Given the description of an element on the screen output the (x, y) to click on. 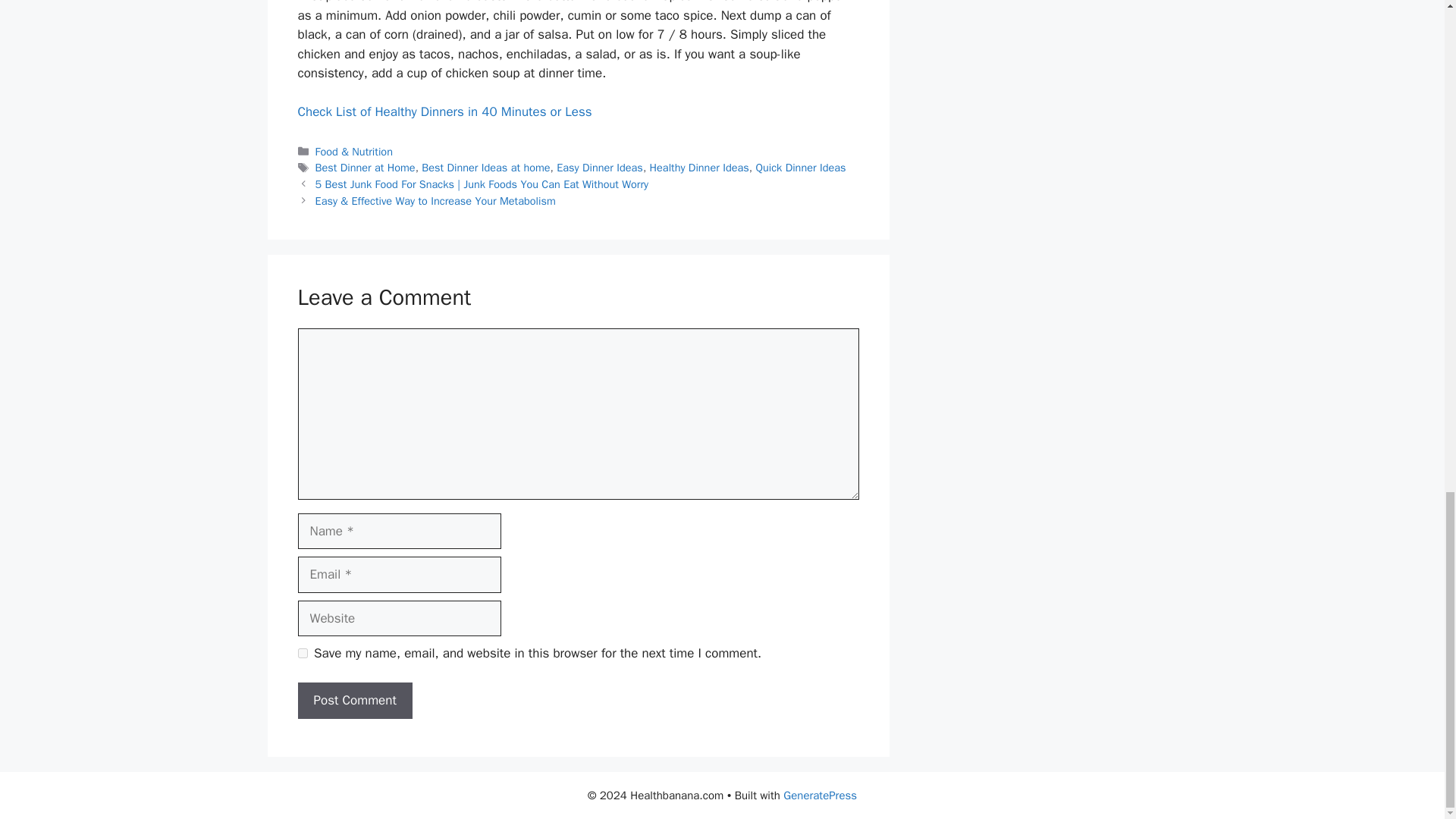
Easy Dinner Ideas (599, 167)
Quick Dinner Ideas (800, 167)
yes (302, 653)
Check List of Healthy Dinners in 40 Minutes or Less (444, 111)
Healthy Dinner Ideas (699, 167)
Post Comment (354, 700)
Best Dinner at Home (364, 167)
Post Comment (354, 700)
Best Dinner Ideas at home (486, 167)
